Given the description of an element on the screen output the (x, y) to click on. 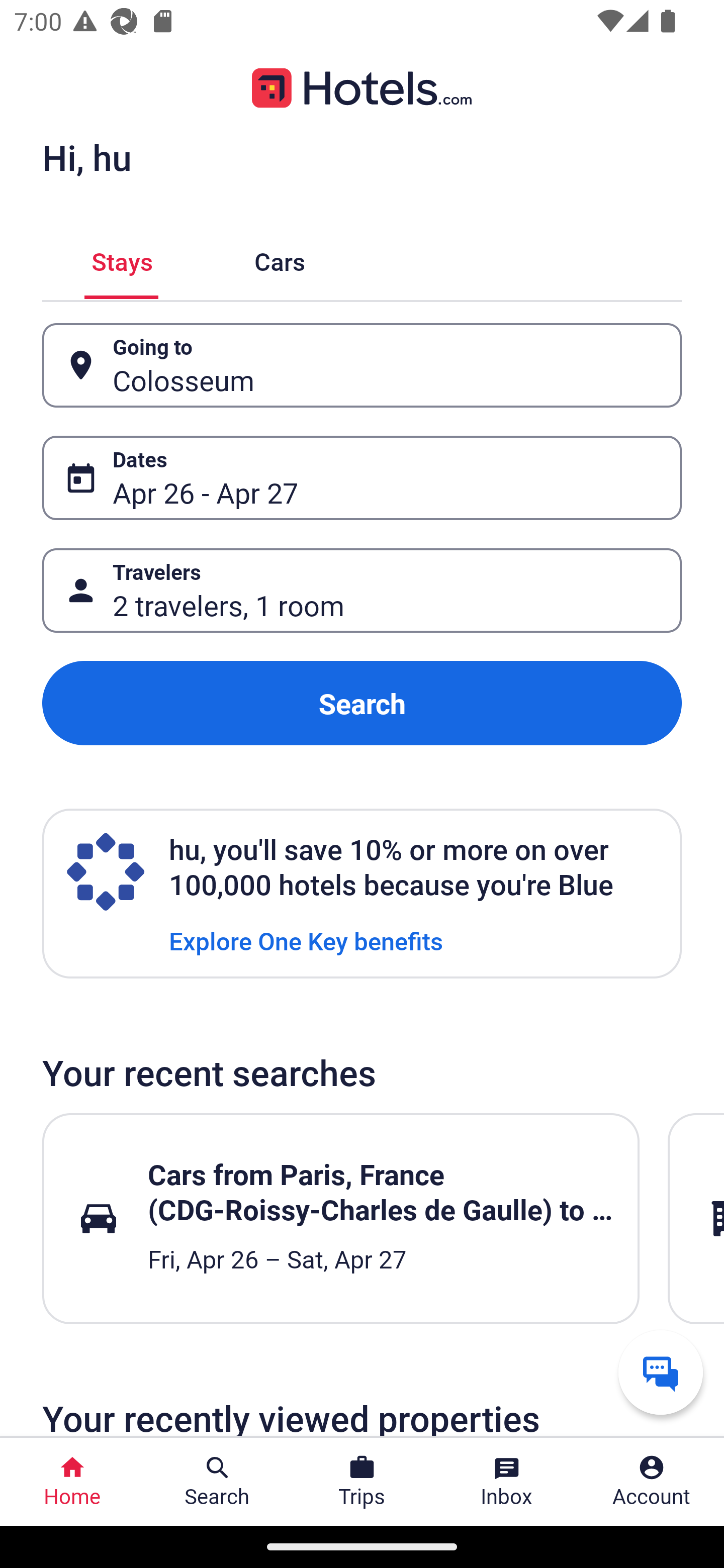
Hi, hu (86, 156)
Cars (279, 259)
Going to Button Colosseum (361, 365)
Dates Button Apr 26 - Apr 27 (361, 477)
Travelers Button 2 travelers, 1 room (361, 590)
Search (361, 702)
Get help from a virtual agent (660, 1371)
Search Search Button (216, 1481)
Trips Trips Button (361, 1481)
Inbox Inbox Button (506, 1481)
Account Profile. Button (651, 1481)
